Given the description of an element on the screen output the (x, y) to click on. 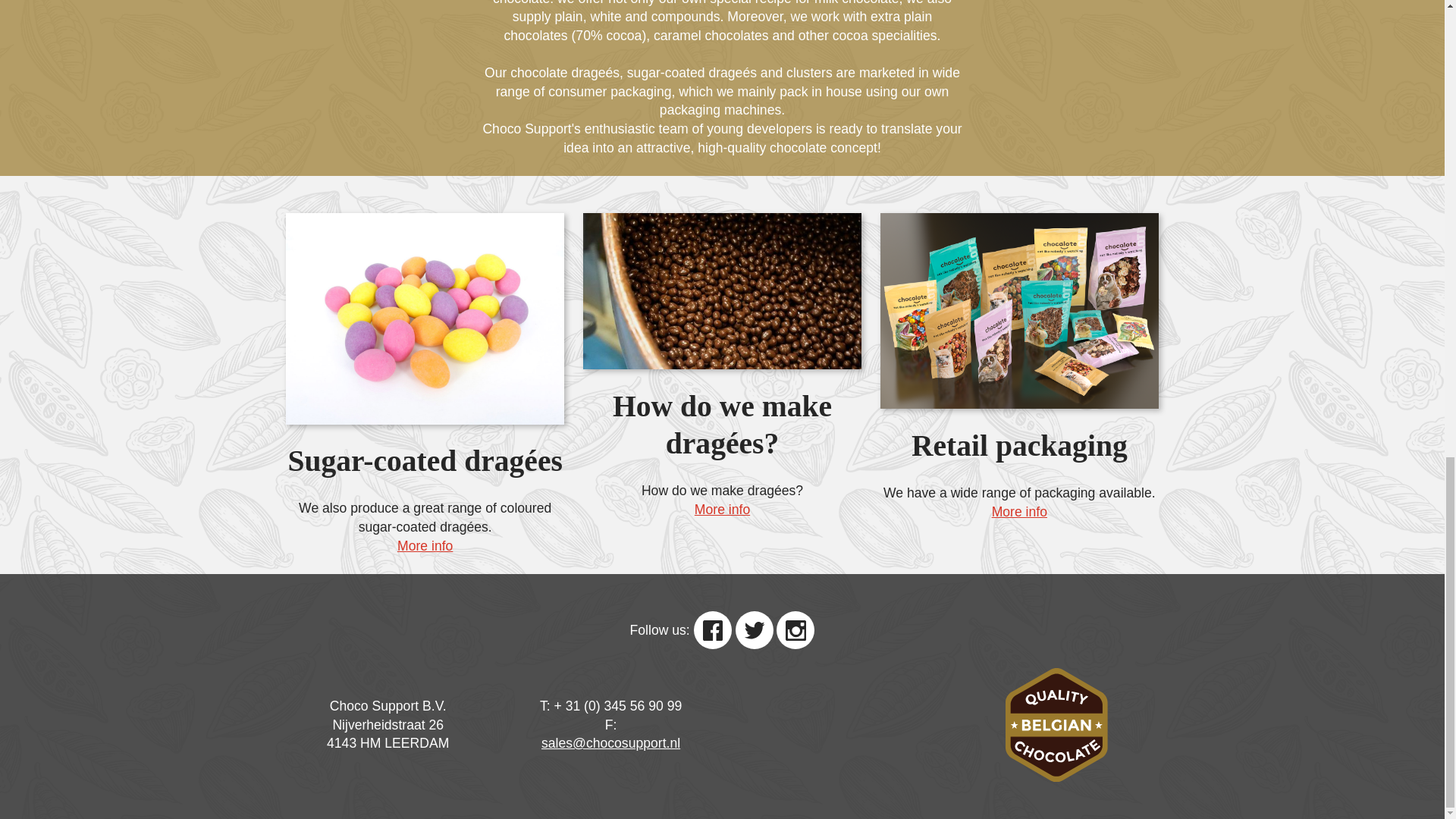
More info (722, 509)
More info (424, 546)
More info (1019, 511)
